Given the description of an element on the screen output the (x, y) to click on. 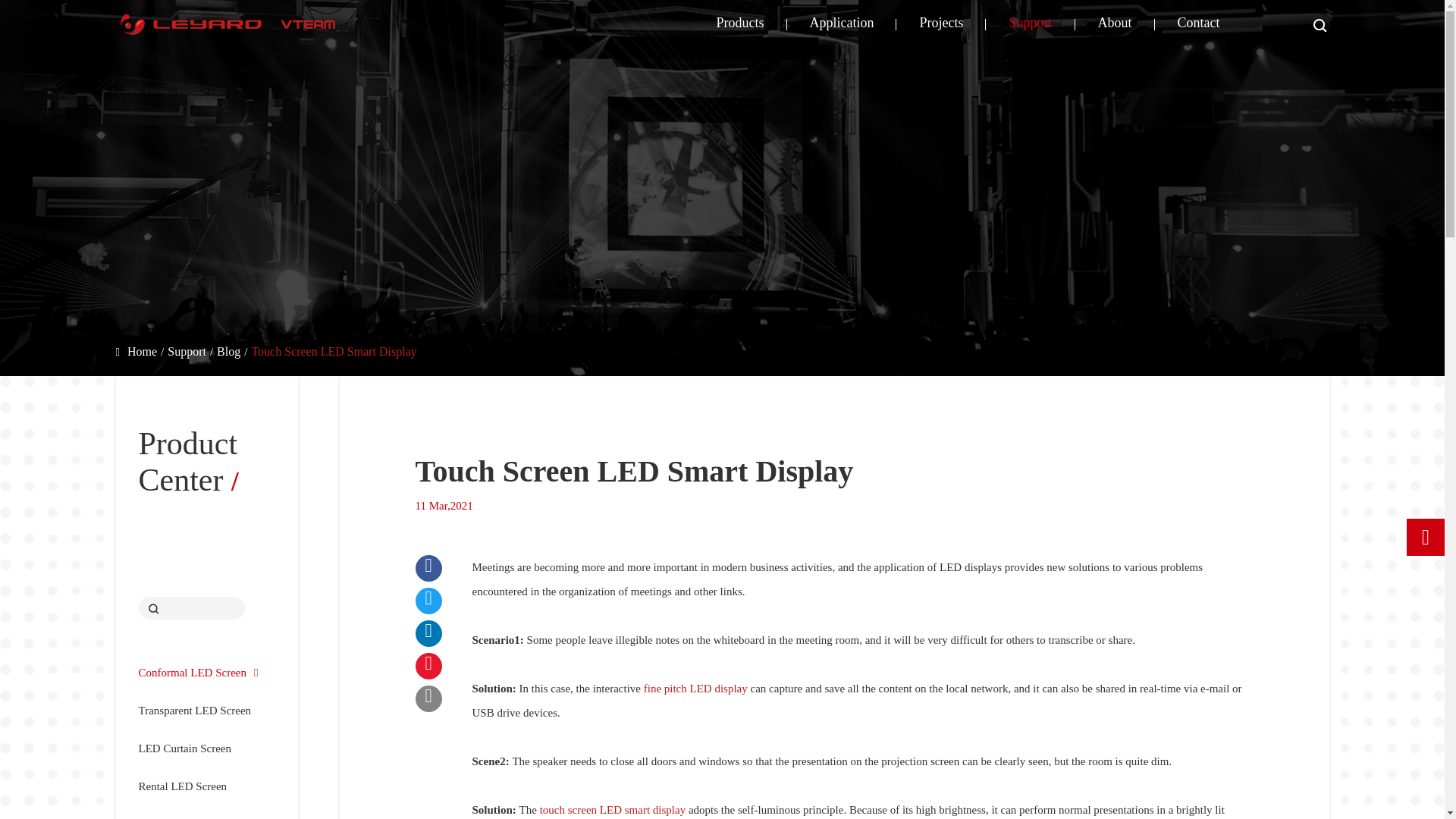
Products (739, 24)
Blog (228, 352)
Touch Screen LED Smart Display (333, 352)
Support (186, 352)
